Given the description of an element on the screen output the (x, y) to click on. 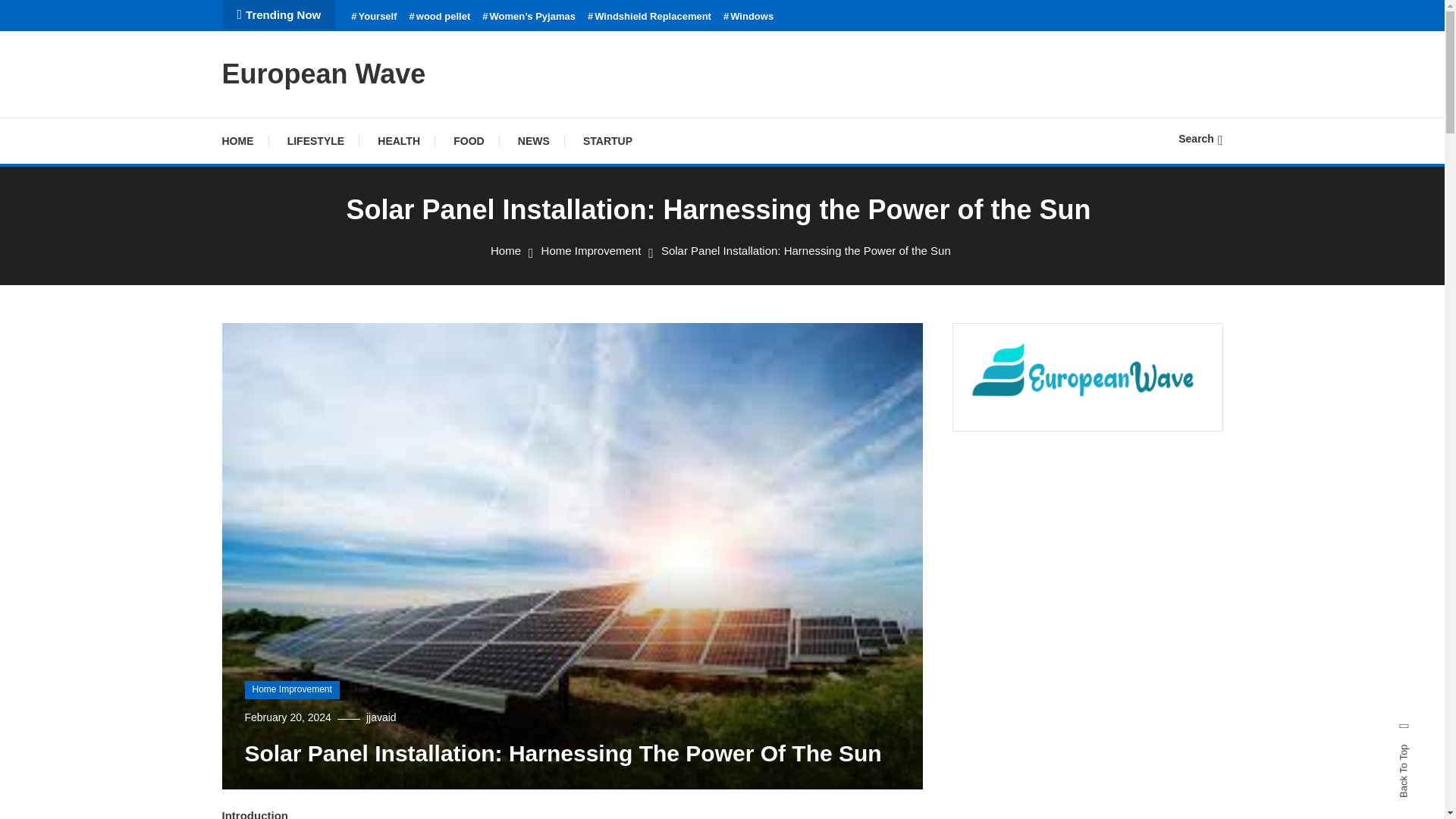
Windshield Replacement (649, 16)
European Wave (323, 73)
wood pellet (439, 16)
Home Improvement (291, 689)
Home (505, 250)
February 20, 2024 (287, 717)
jjavaid (381, 717)
Search (768, 434)
NEWS (533, 140)
LIFESTYLE (315, 140)
